Given the description of an element on the screen output the (x, y) to click on. 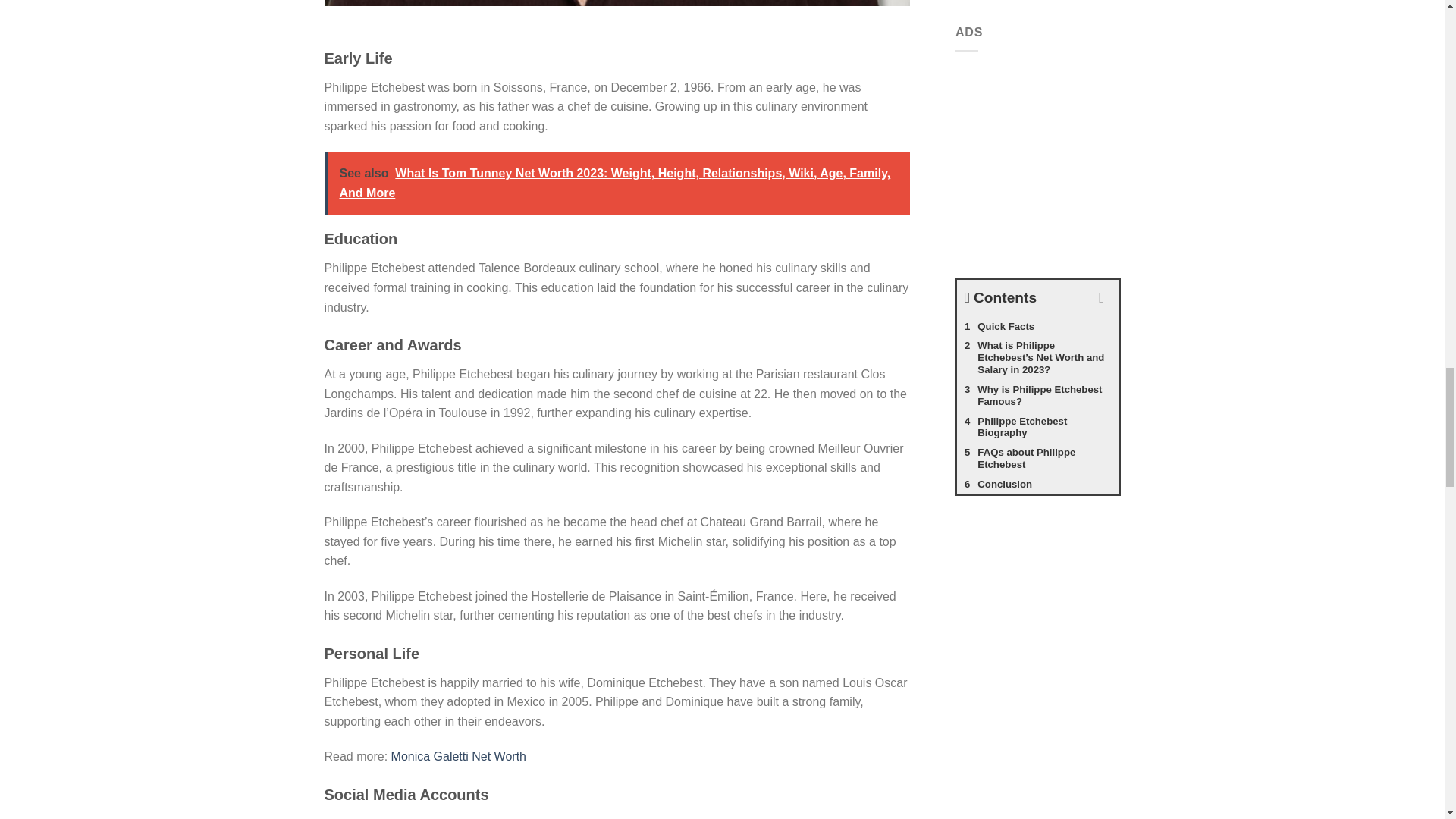
Monica Galetti Net Worth (458, 756)
Monica Galetti Net Worth (458, 756)
Instagram (366, 818)
Instagram (366, 818)
